Given the description of an element on the screen output the (x, y) to click on. 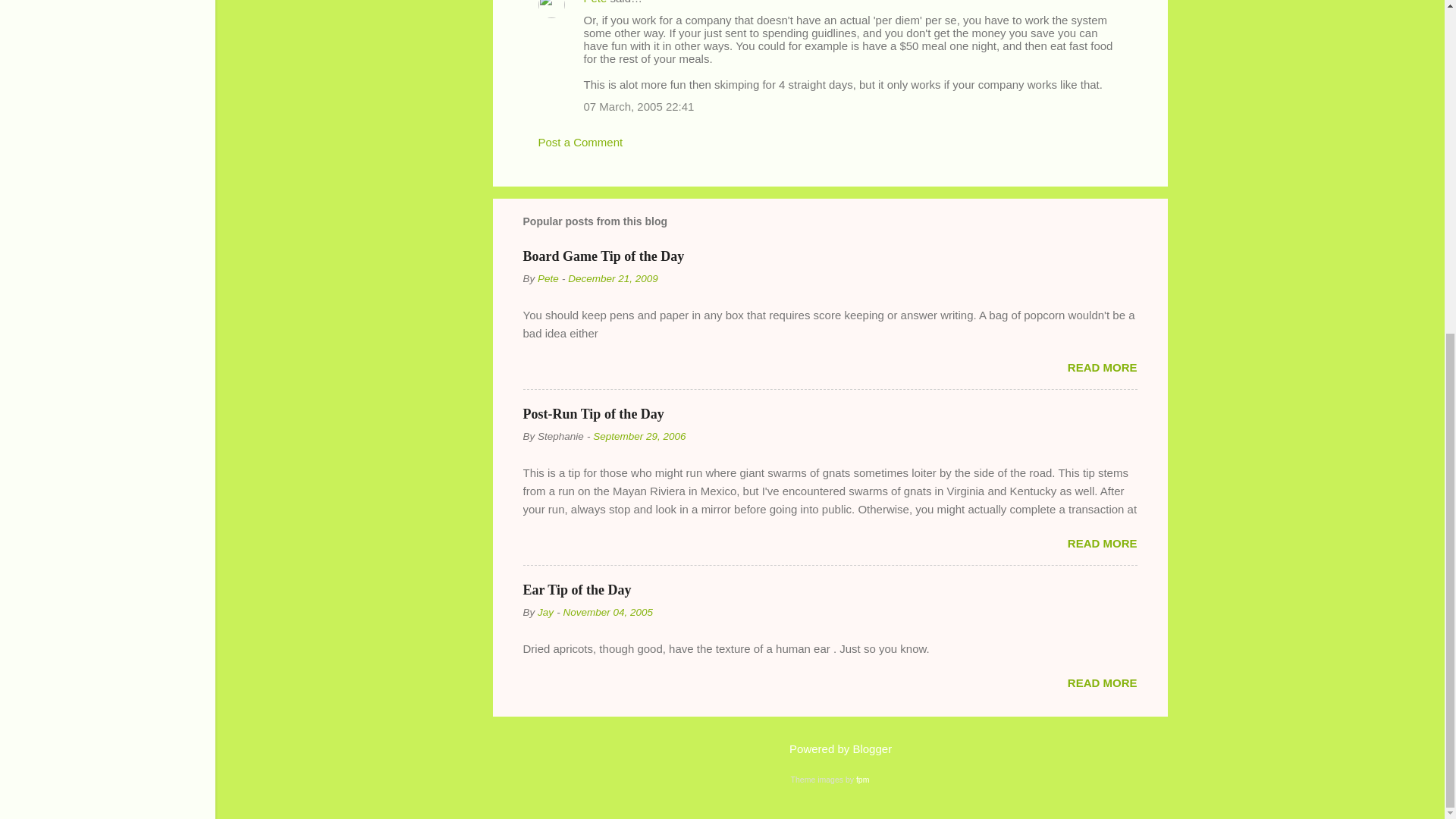
November 04, 2005 (607, 612)
fpm (862, 778)
Board Game Tip of the Day (603, 255)
Pete (548, 278)
Ear Tip of the Day (576, 589)
Pete (595, 2)
September 29, 2006 (638, 436)
Post a Comment (580, 141)
Jay (545, 612)
READ MORE (1102, 682)
